Given the description of an element on the screen output the (x, y) to click on. 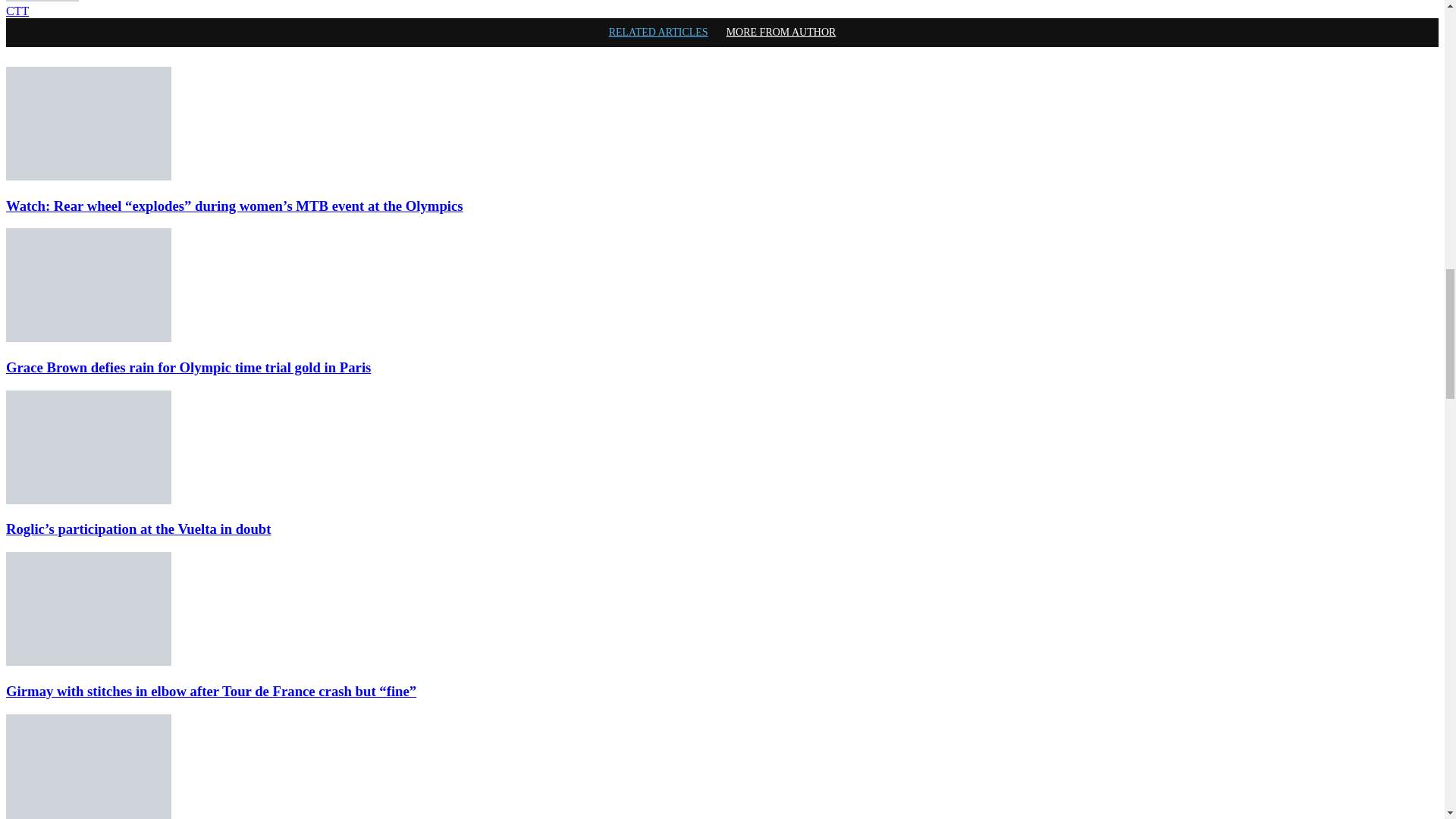
Grace Brown defies rain for Olympic time trial gold in Paris (188, 367)
Grace Brown defies rain for Olympic time trial gold in Paris (88, 337)
Grace Brown defies rain for Olympic time trial gold in Paris (88, 285)
